Given the description of an element on the screen output the (x, y) to click on. 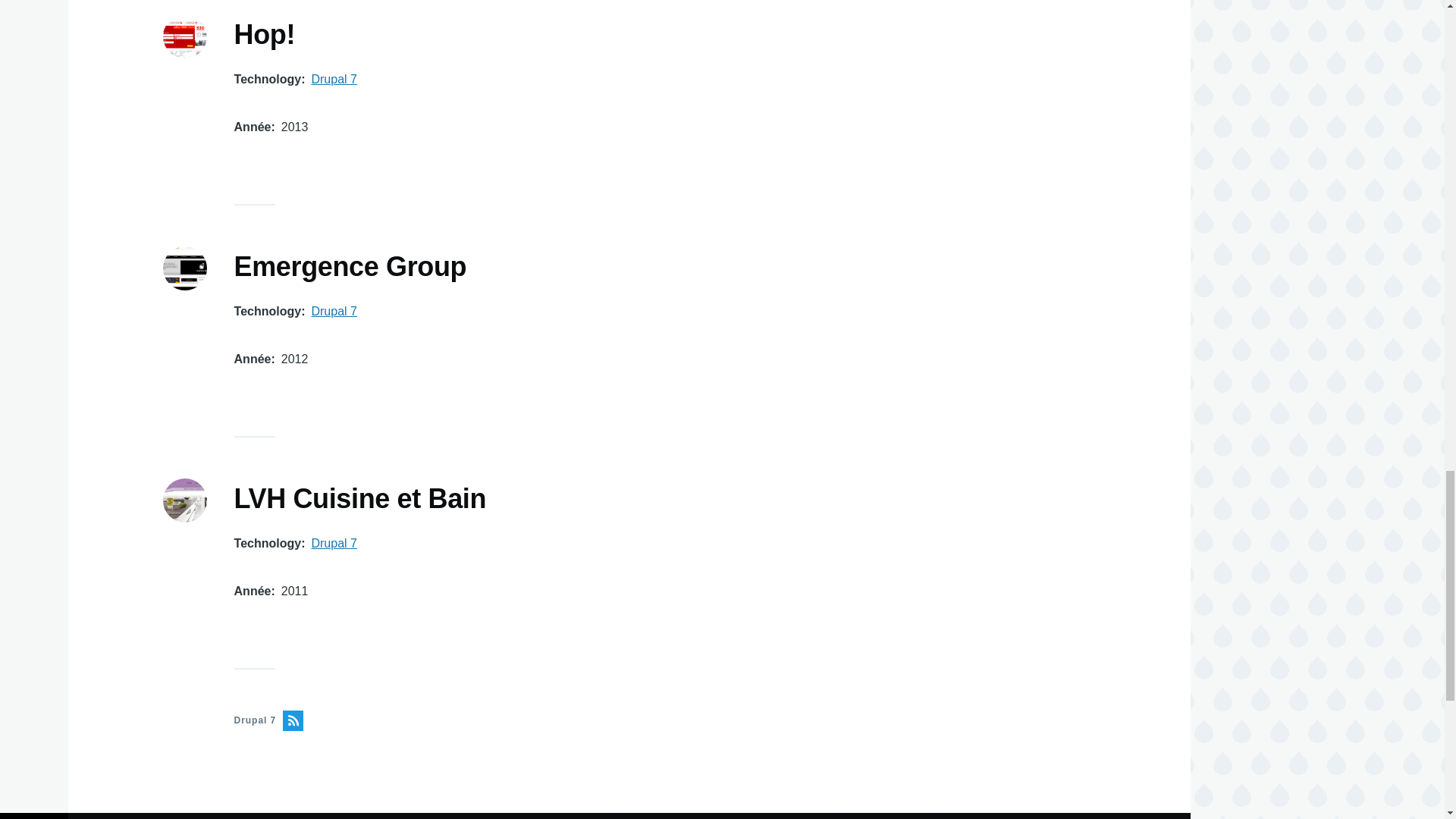
Drupal 7 (333, 543)
Hop! (264, 35)
Drupal 7 (510, 720)
Drupal 7 (333, 78)
Drupal 7 (333, 310)
Emergence Group (350, 267)
LVH Cuisine et Bain (360, 499)
